Given the description of an element on the screen output the (x, y) to click on. 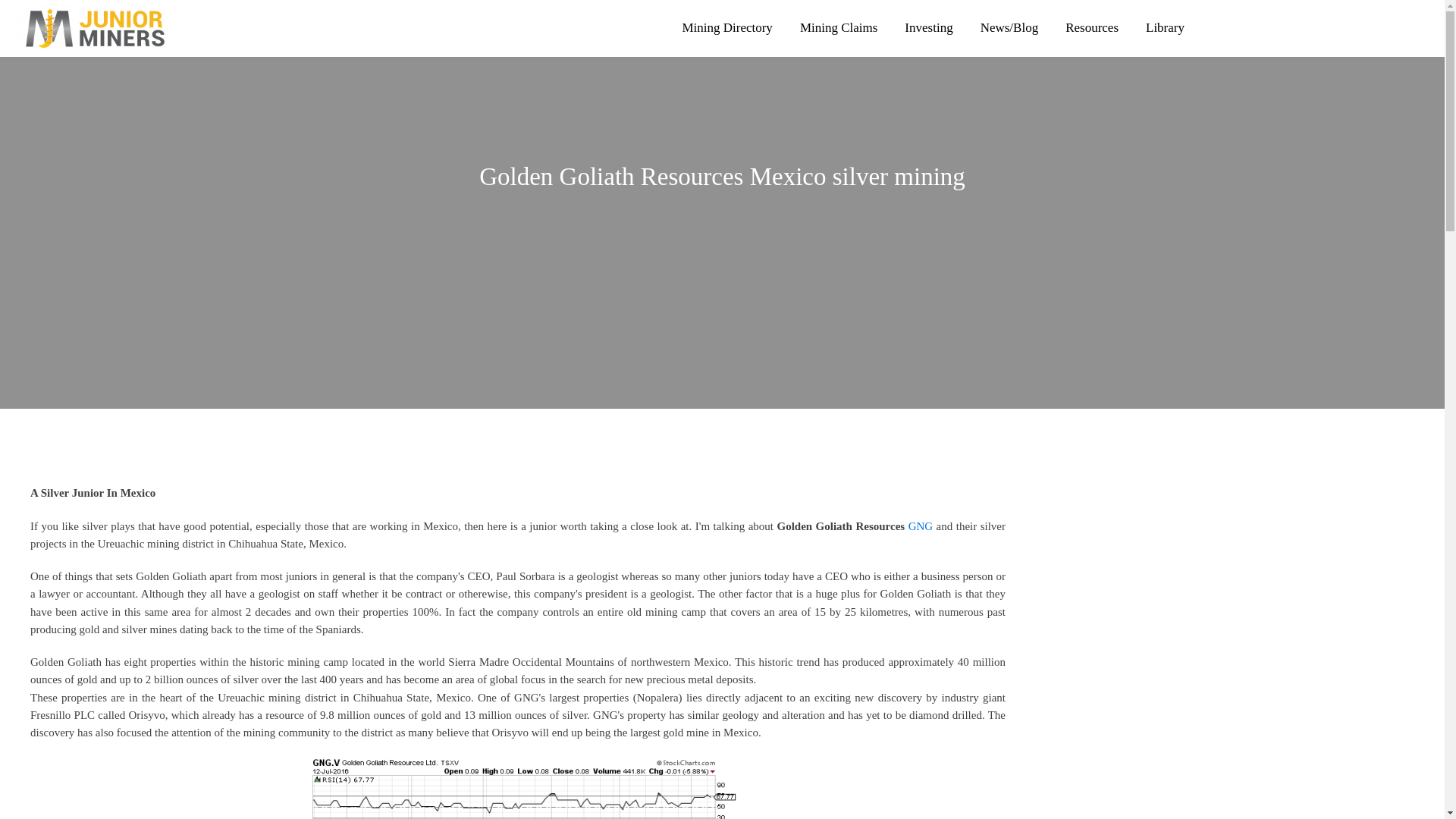
Mining Directory (727, 28)
Mining Claims (838, 28)
Investing (928, 28)
